Given the description of an element on the screen output the (x, y) to click on. 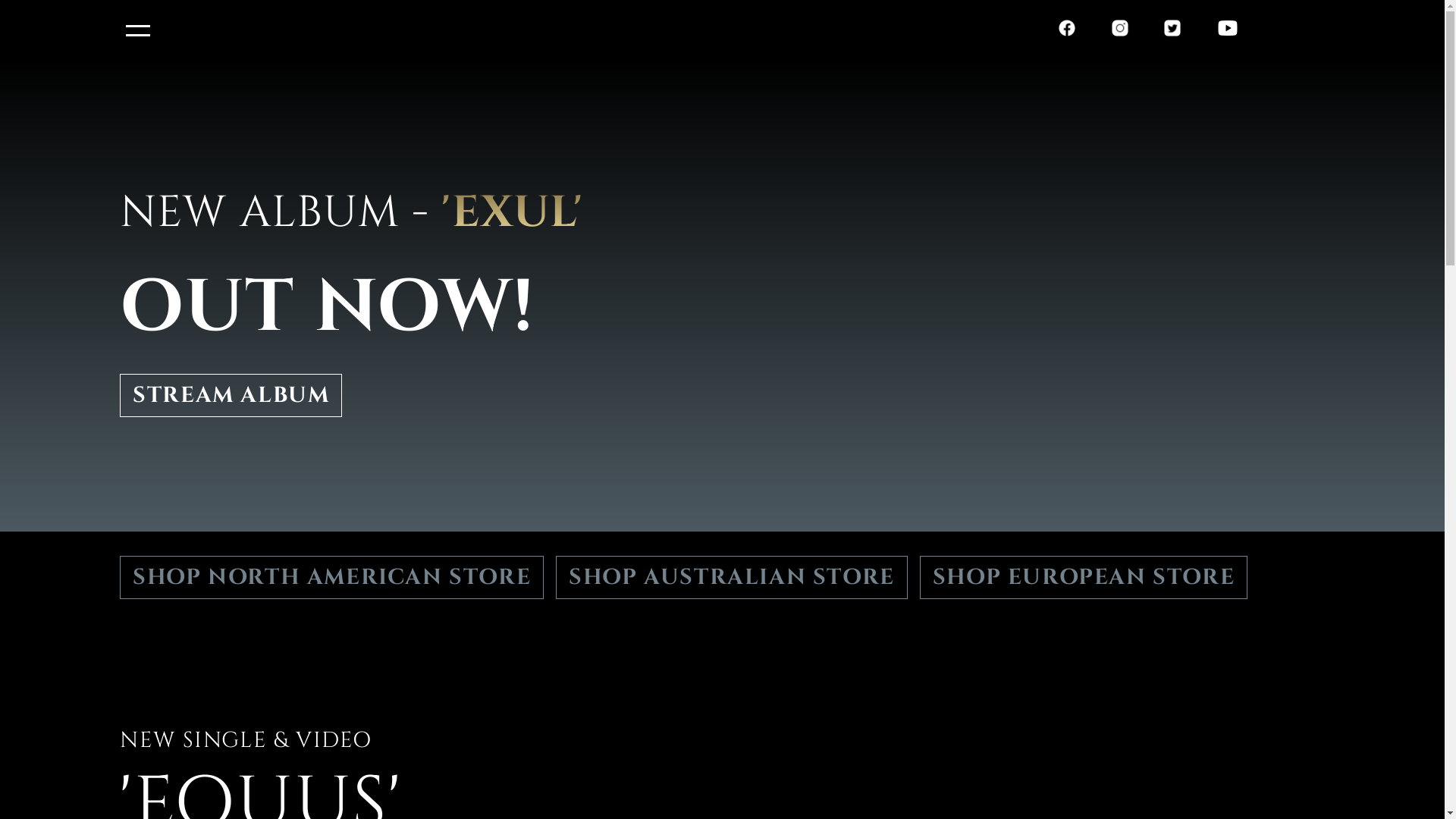
SHOP AUSTRALIAN STORE Element type: text (731, 577)
STREAM ALBUM Element type: text (230, 397)
SHOP EUROPEAN STORE Element type: text (1083, 577)
SHOP NORTH AMERICAN STORE Element type: text (337, 579)
SHOP AUSTRALIAN STORE Element type: text (737, 579)
STREAM ALBUM Element type: text (230, 395)
SHOP EUROPEAN STORE Element type: text (1089, 579)
SHOP NORTH AMERICAN STORE Element type: text (331, 577)
